Given the description of an element on the screen output the (x, y) to click on. 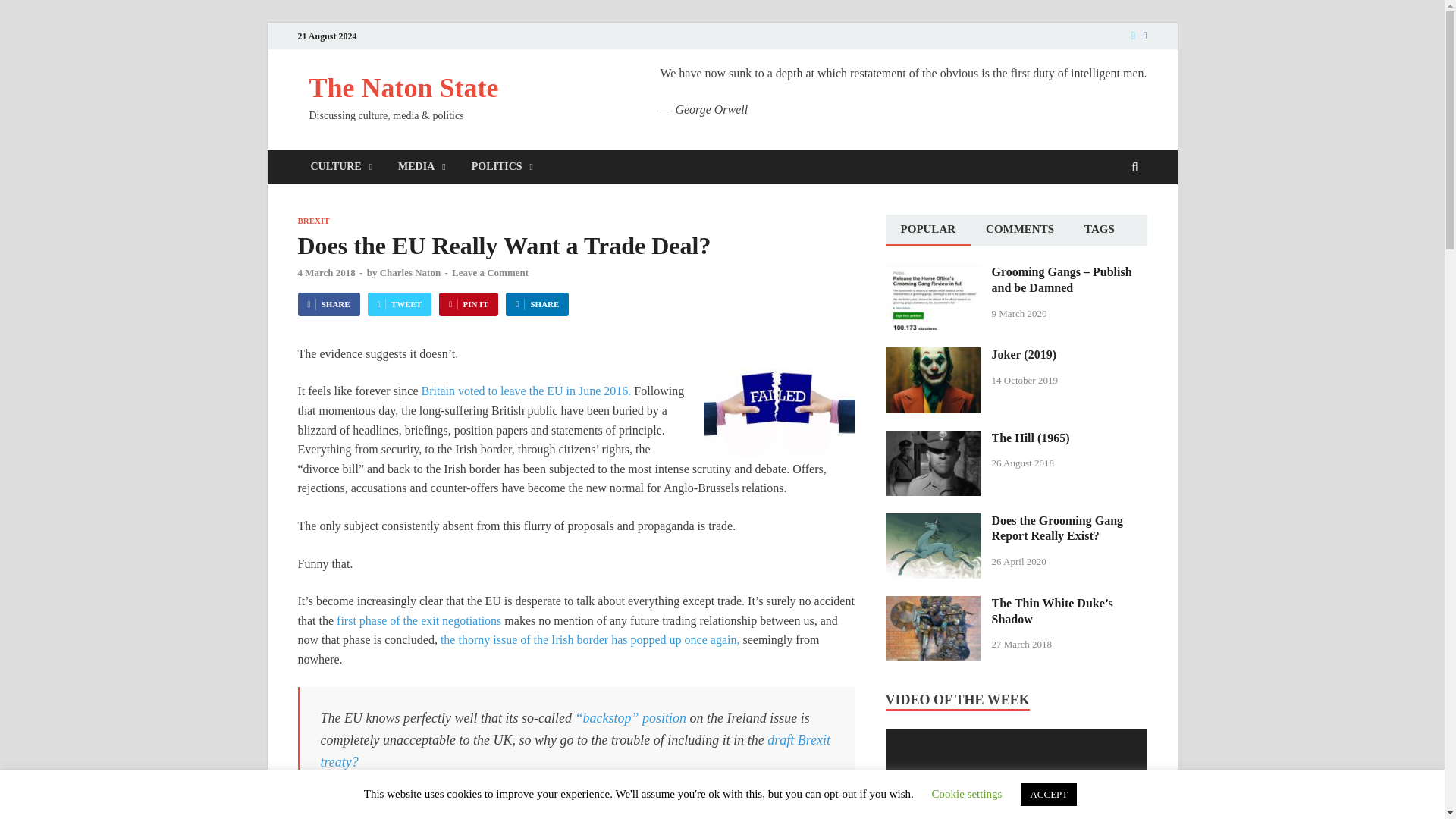
SHARE (328, 304)
MEDIA (421, 166)
Britain voted to leave the EU in June 2016. (526, 390)
TWEET (400, 304)
CULTURE (341, 166)
The Naton State (403, 87)
4 March 2018 (326, 272)
PIN IT (468, 304)
Does the Grooming Gang Report Really Exist? (932, 521)
Charles Naton (410, 272)
